Given the description of an element on the screen output the (x, y) to click on. 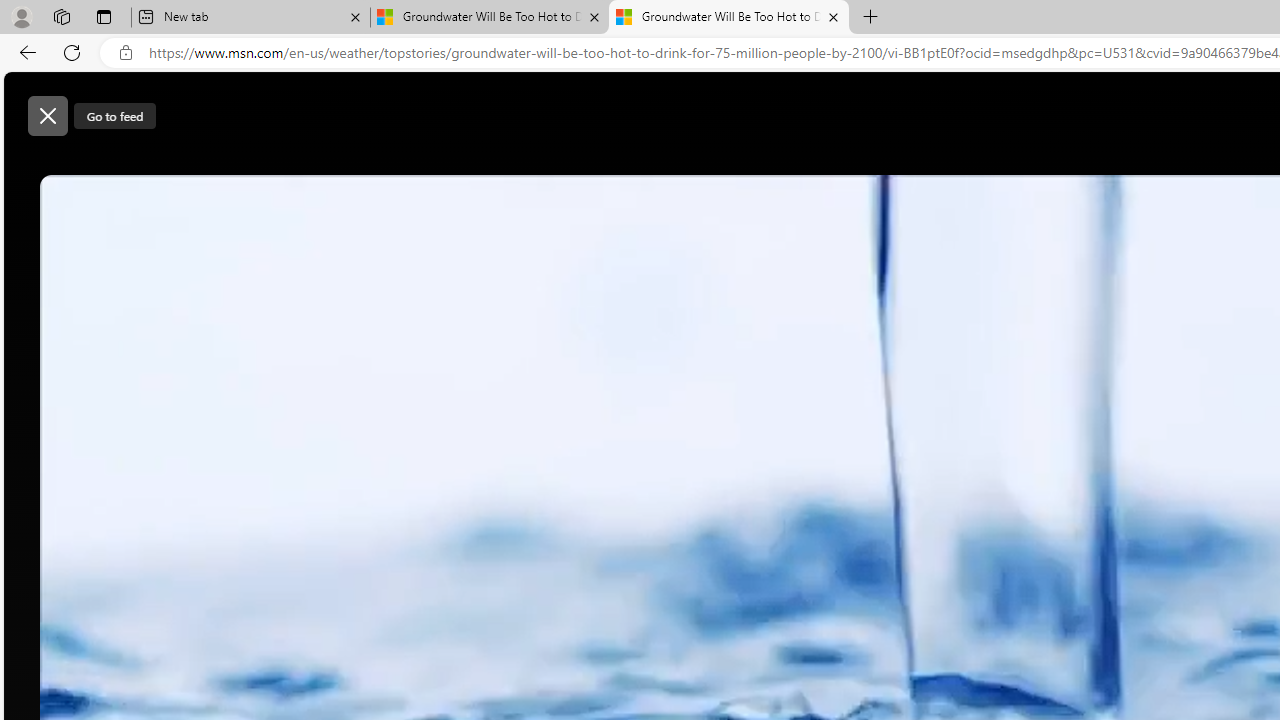
Watch (742, 162)
Class: control icon-only (47, 115)
Class: button-glyph (513, 162)
Skip to footer (82, 105)
Web search (924, 105)
Discover (568, 162)
